Given the description of an element on the screen output the (x, y) to click on. 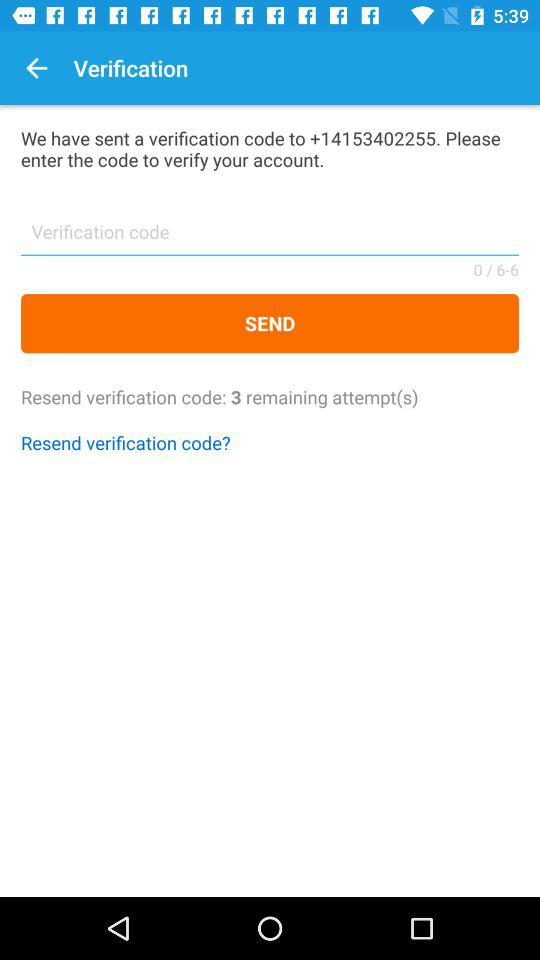
select the send item (270, 323)
